Given the description of an element on the screen output the (x, y) to click on. 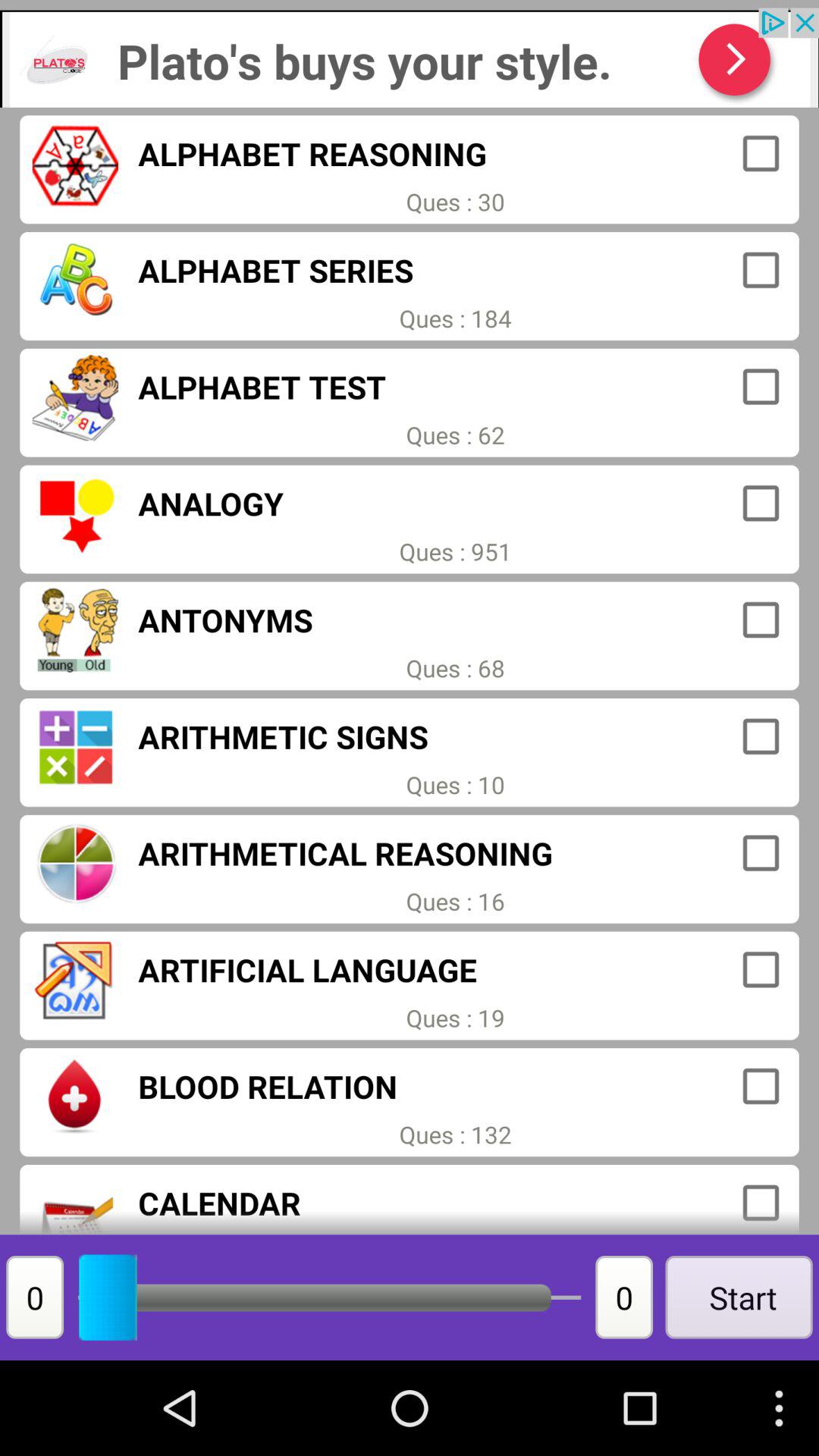
open advertisement (409, 57)
